Given the description of an element on the screen output the (x, y) to click on. 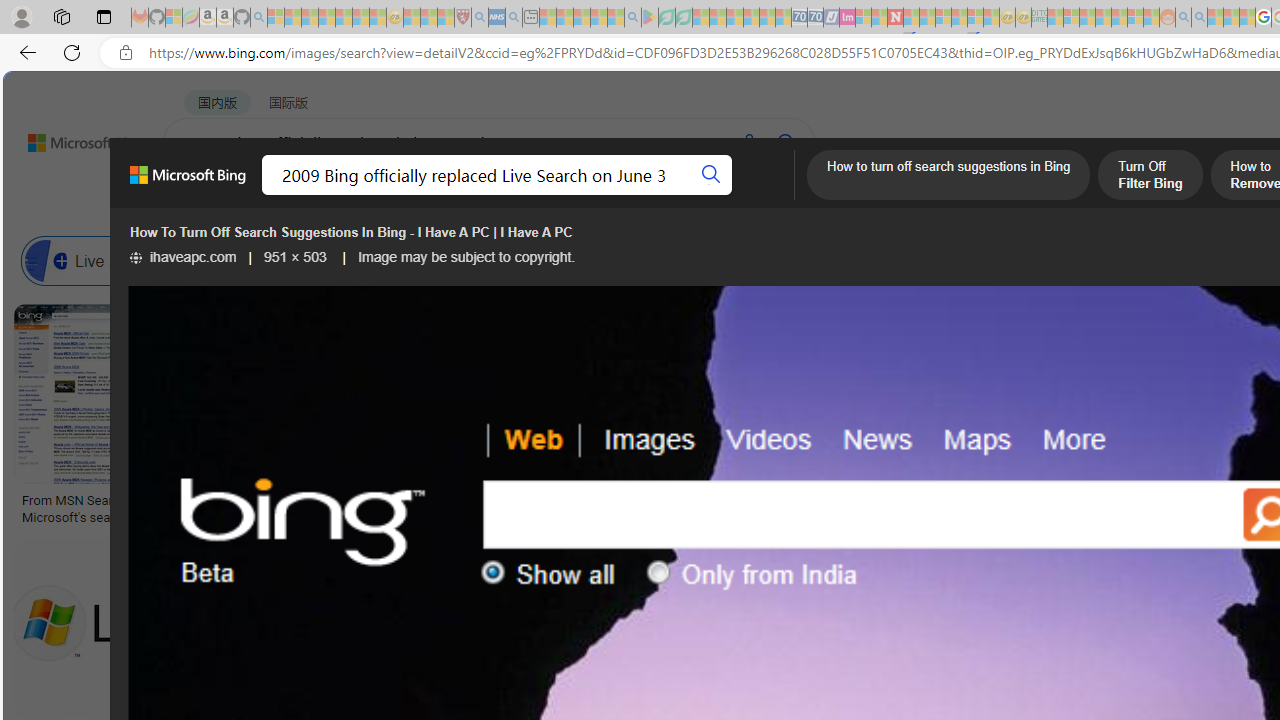
The Weather Channel - MSN - Sleeping (309, 17)
Class: item col (943, 260)
New Report Confirms 2023 Was Record Hot | Watch - Sleeping (343, 17)
google - Search - Sleeping (632, 17)
Bing Picture Search Engine (492, 260)
Live Search (45, 260)
Terms of Use Agreement - Sleeping (666, 17)
Back to Bing search (73, 138)
Microsoft Start - Sleeping (1215, 17)
Bluey: Let's Play! - Apps on Google Play - Sleeping (649, 17)
Latest Politics News & Archive | Newsweek.com - Sleeping (895, 17)
